Given the description of an element on the screen output the (x, y) to click on. 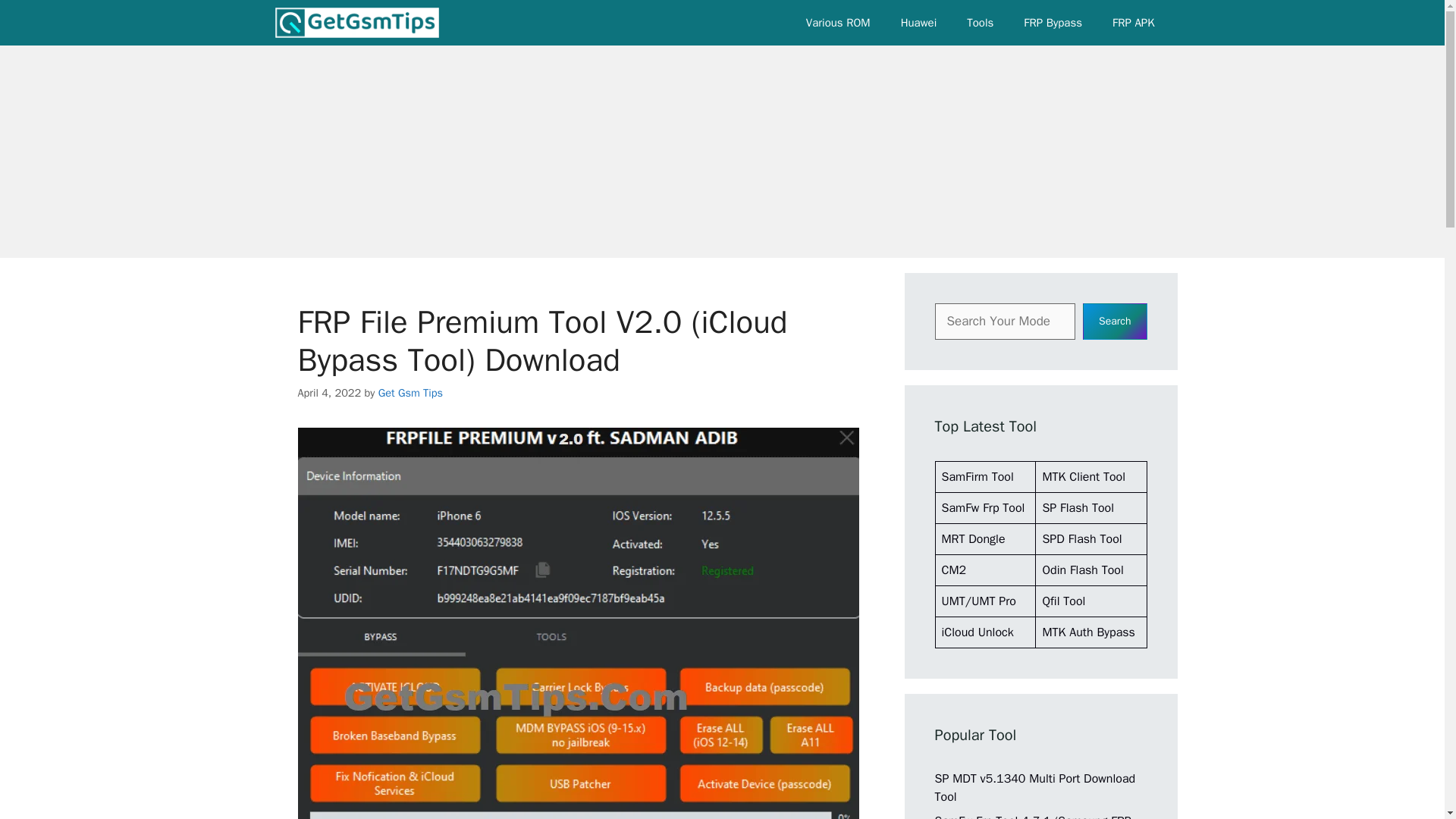
Search (1115, 321)
View all posts by Get Gsm Tips (410, 392)
SP Flash Tool (1077, 507)
Various ROM (837, 22)
SP MDT v5.1340 Multi Port Download Tool (1034, 786)
MTK Auth Bypass (1088, 631)
iCloud Unlock (977, 631)
FRP APK (1133, 22)
Get Gsm Tips (357, 22)
SamFw Frp Tool (983, 507)
Get Gsm Tips (410, 392)
Qfil Tool (1063, 600)
CM2 (954, 570)
Tools (980, 22)
Huawei (918, 22)
